Given the description of an element on the screen output the (x, y) to click on. 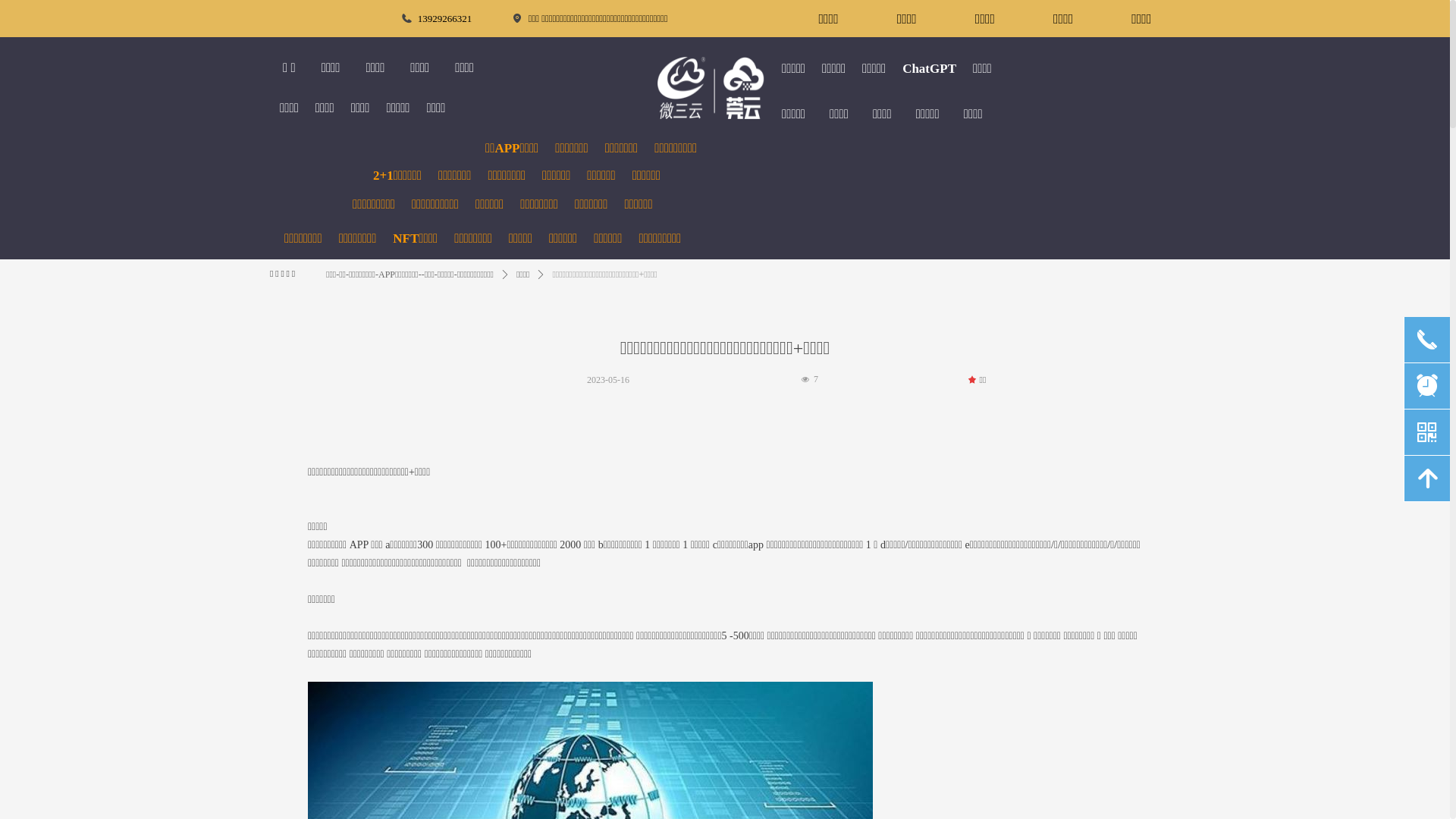
13929266321 Element type: text (437, 18)
ChatGPT Element type: text (929, 67)
